Given the description of an element on the screen output the (x, y) to click on. 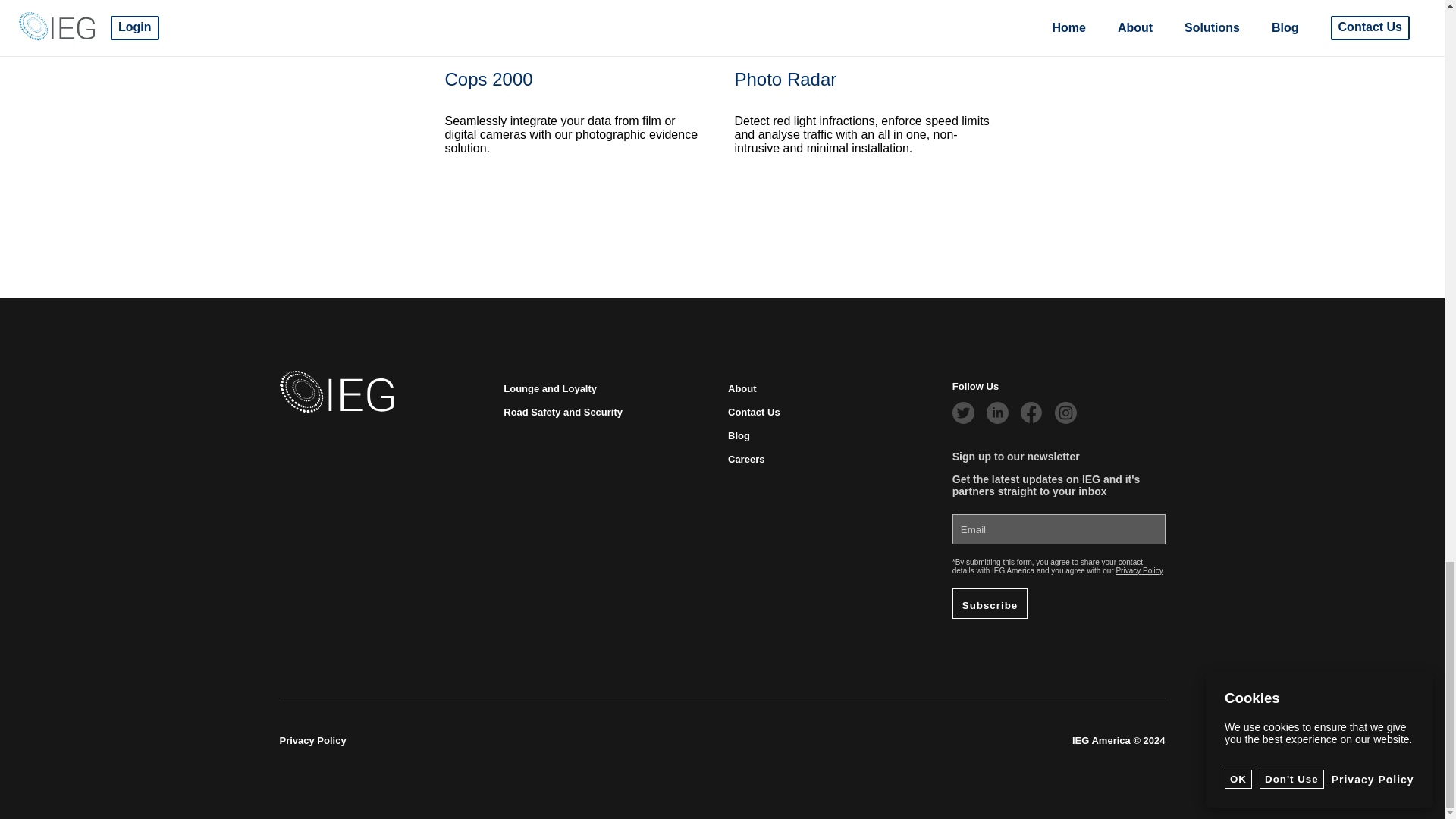
Privacy Policy (312, 740)
Subscribe (989, 603)
Blog (738, 435)
Careers (746, 459)
Contact Us (754, 411)
About (742, 388)
Privacy Policy (1138, 570)
Lounge and Loyalty (549, 388)
Road Safety and Security (563, 411)
